Given the description of an element on the screen output the (x, y) to click on. 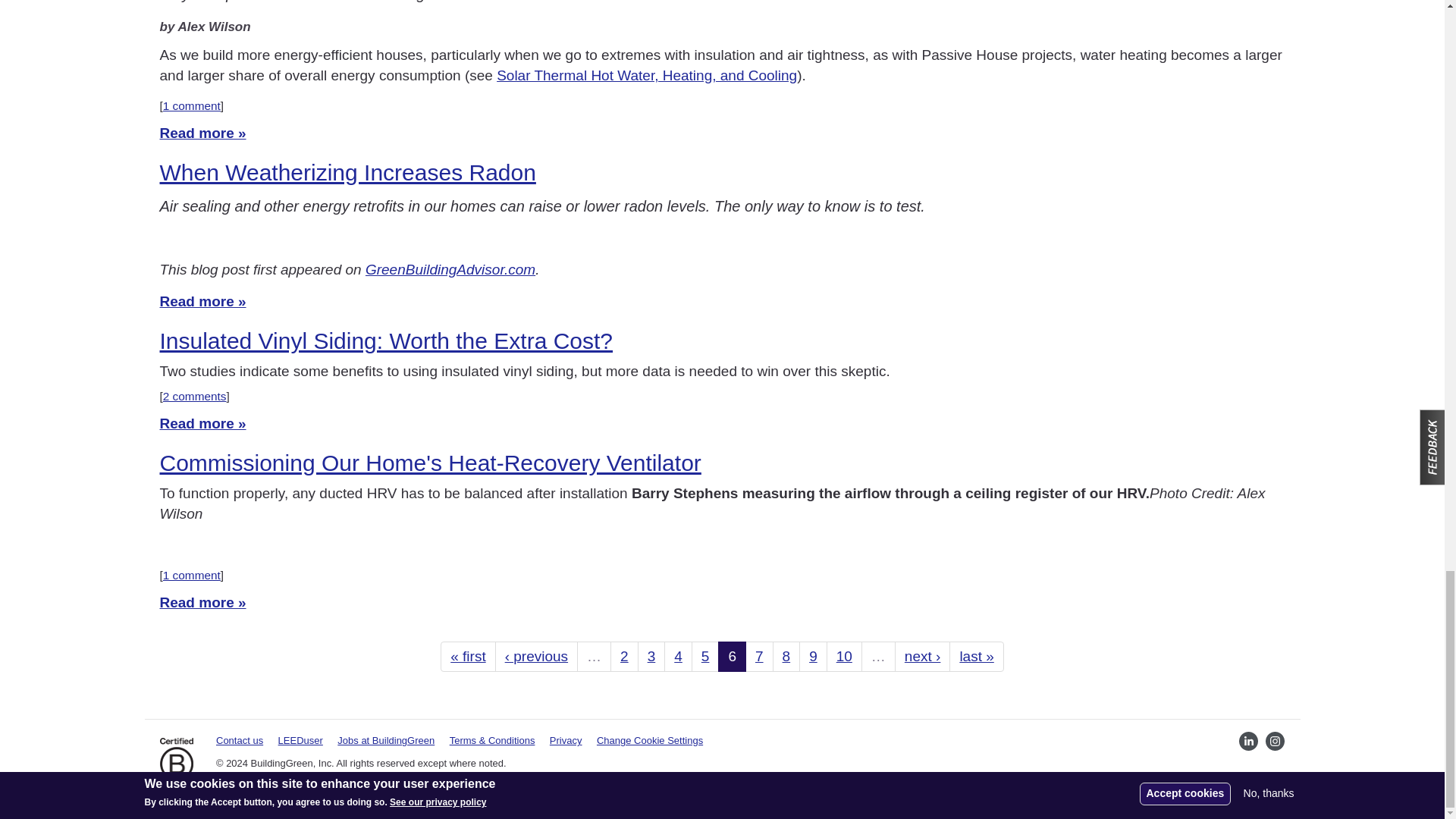
Go to page 10 (844, 656)
Go to next page (922, 656)
Go to page 2 (624, 656)
Go to page 4 (678, 656)
Go to page 8 (786, 656)
Go to previous page (536, 656)
Go to first page (468, 656)
Go to page 3 (651, 656)
Go to page 5 (705, 656)
Go to page 7 (759, 656)
Go to last page (976, 656)
Go to page 9 (813, 656)
